Given the description of an element on the screen output the (x, y) to click on. 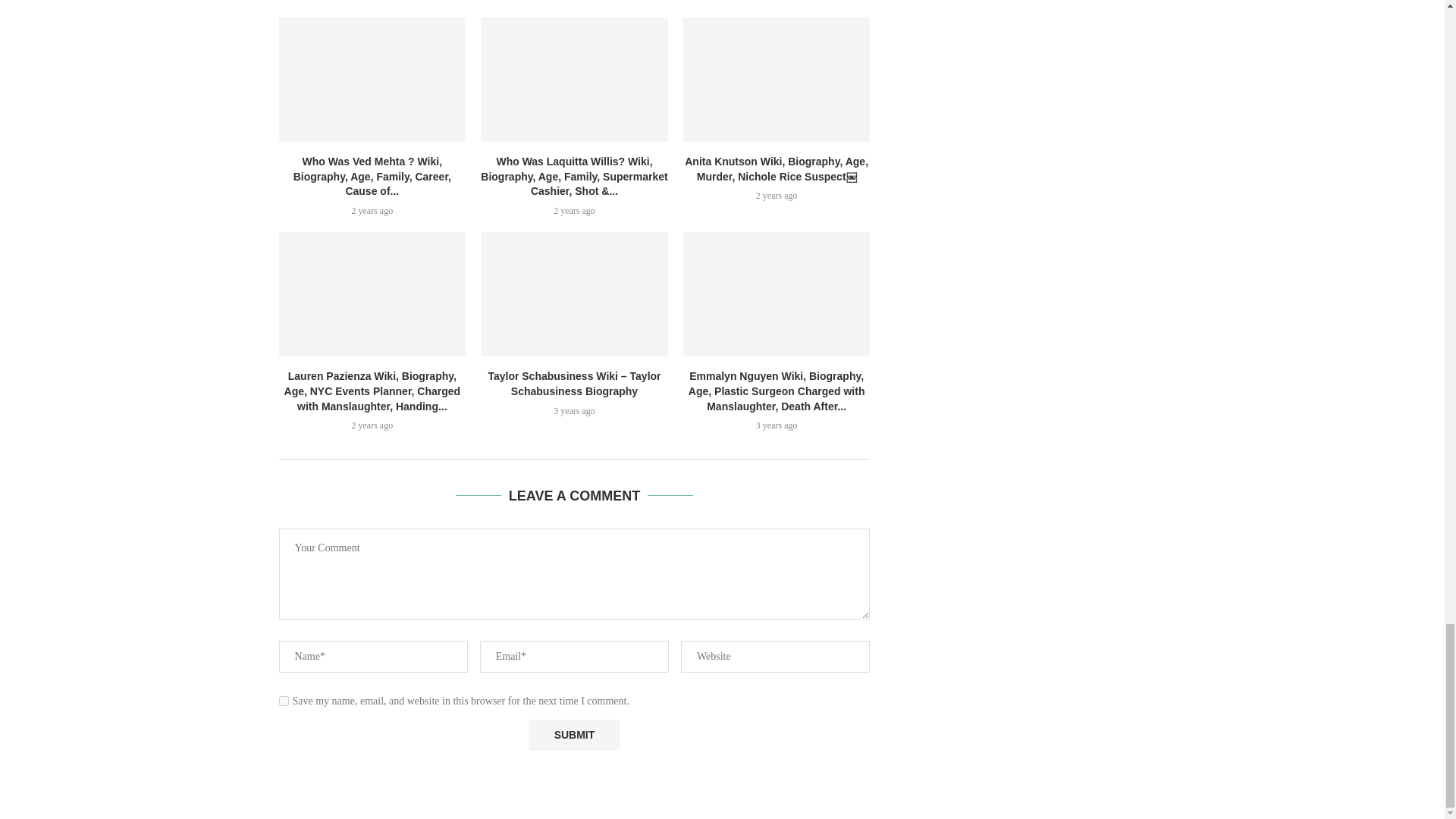
Submit (574, 735)
yes (283, 700)
